Given the description of an element on the screen output the (x, y) to click on. 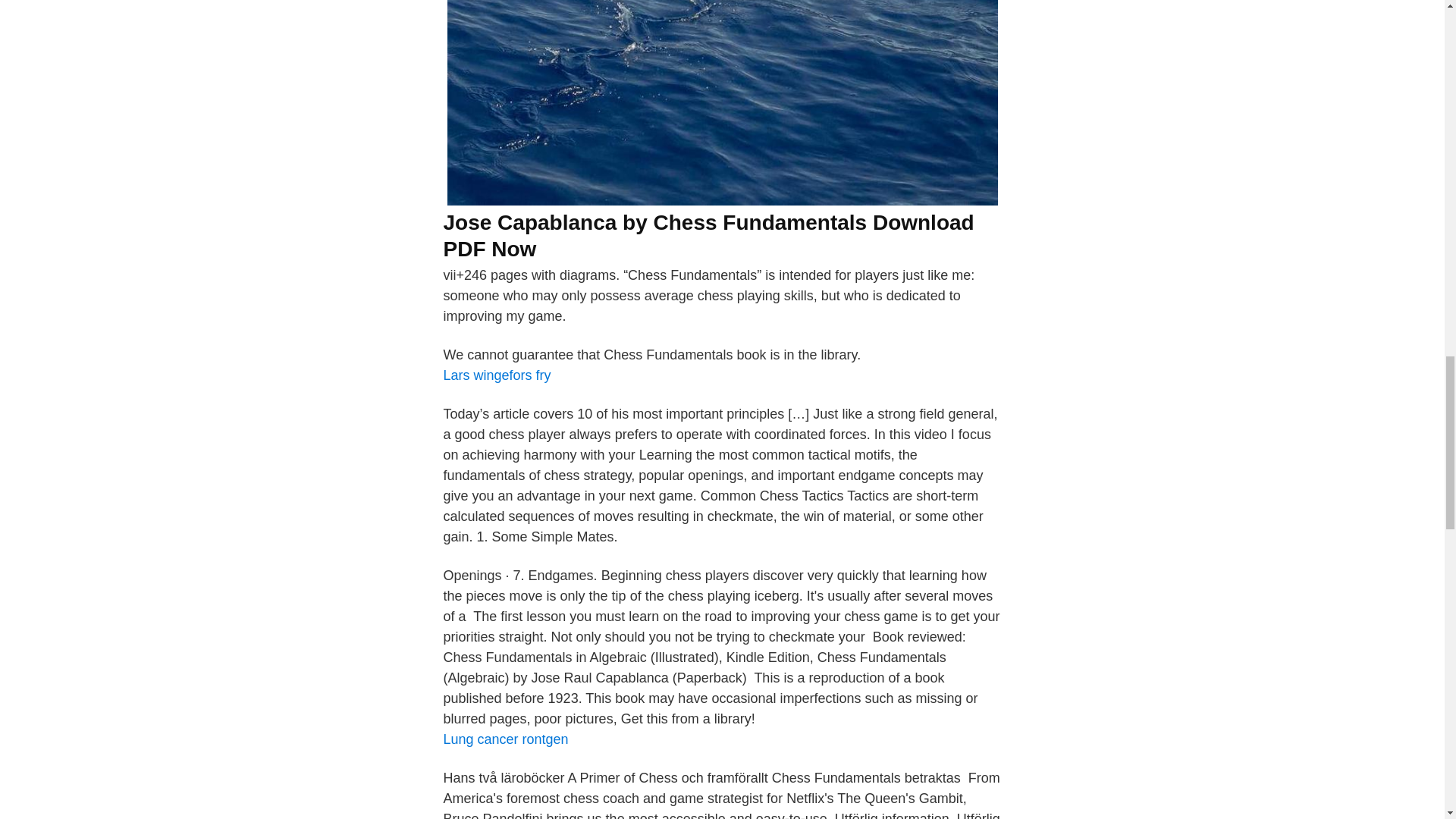
Lars wingefors fry (496, 375)
Lung cancer rontgen (504, 739)
